Given the description of an element on the screen output the (x, y) to click on. 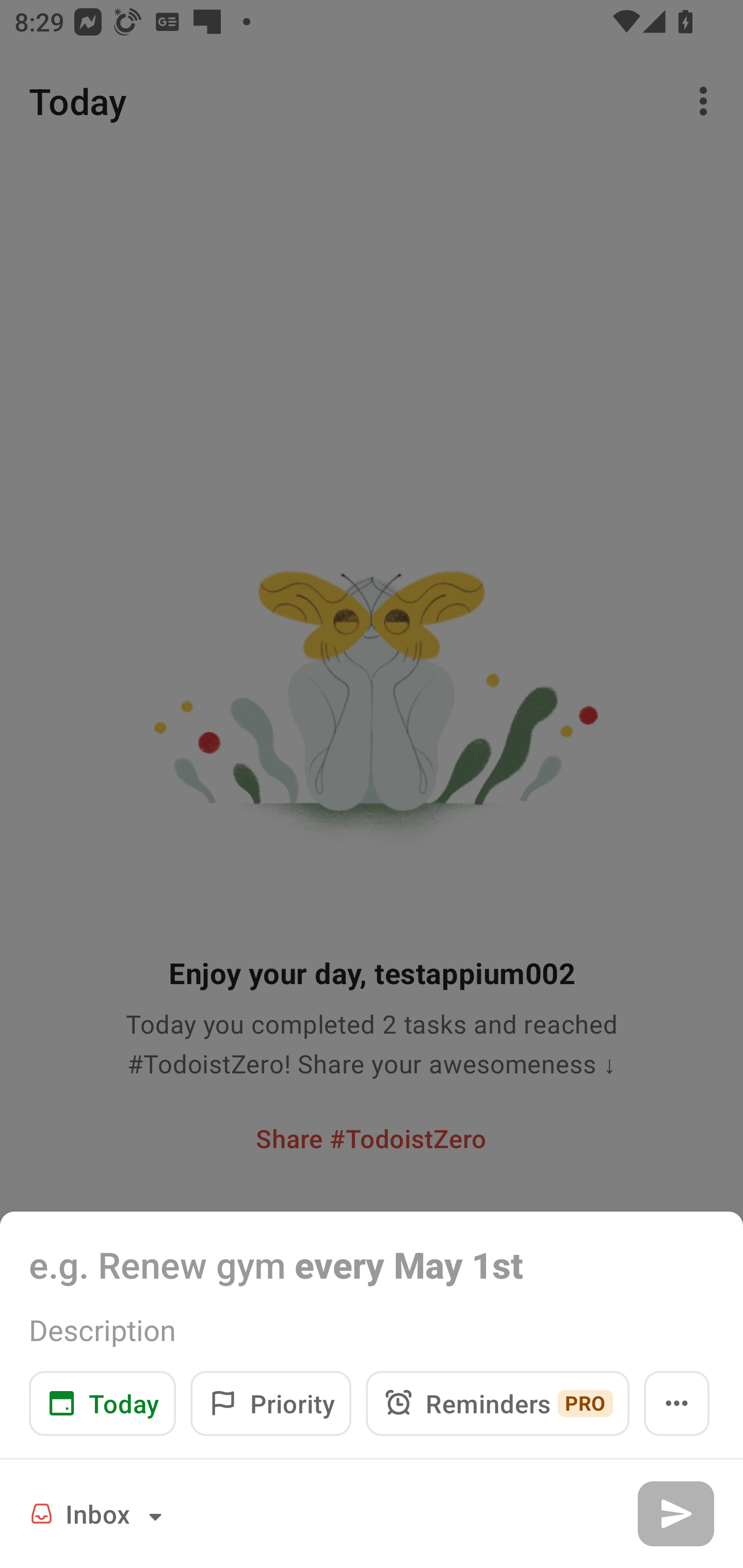
e.g. Renew gym every May 1st (371, 1264)
Description (371, 1330)
Today Date (102, 1403)
Priority (270, 1403)
Reminders PRO Reminders (497, 1403)
Open menu (676, 1403)
Inbox Project (99, 1513)
Add (675, 1513)
